Given the description of an element on the screen output the (x, y) to click on. 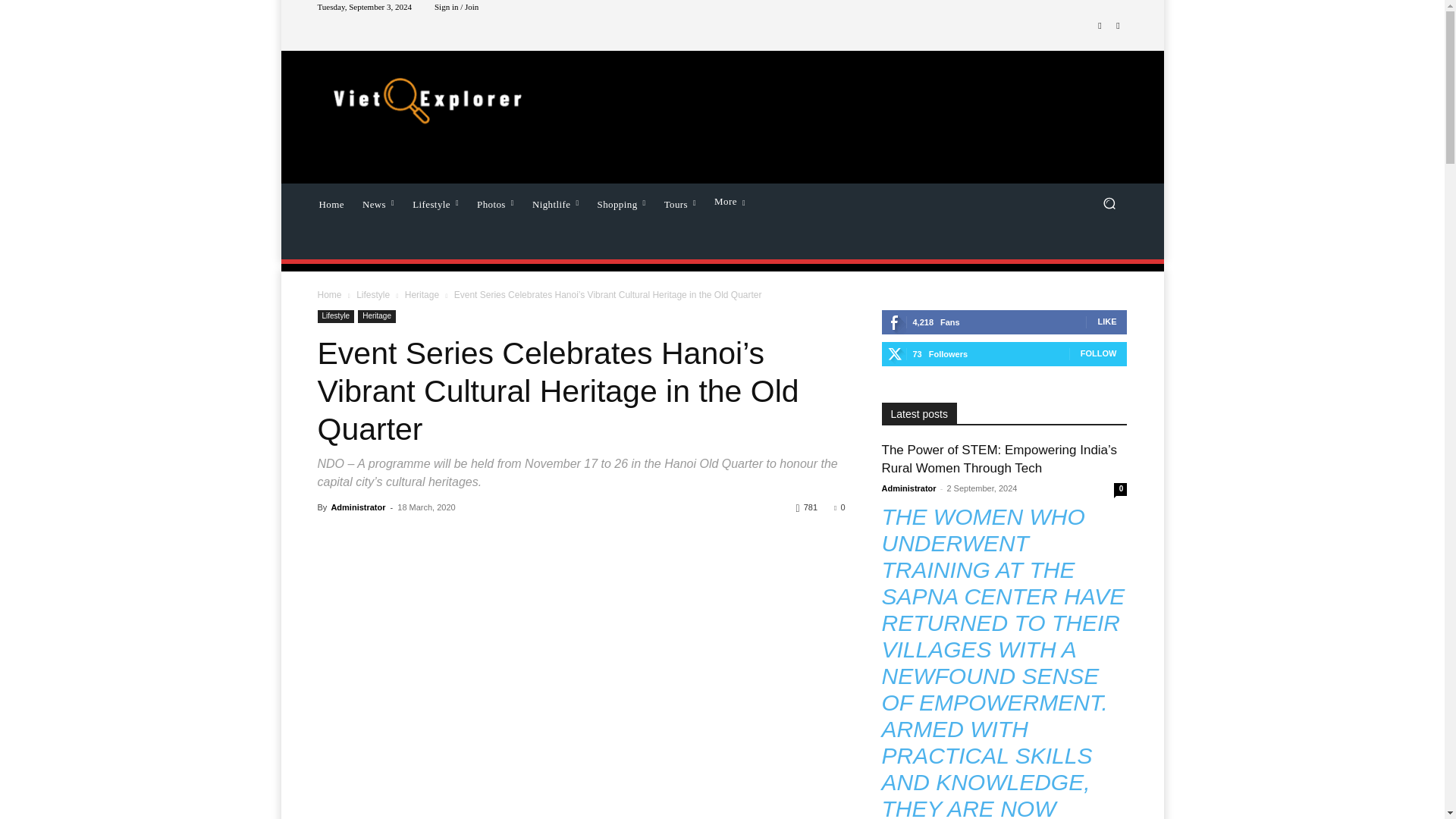
Facebook (1099, 25)
Lifestyle (435, 202)
Twitter (1117, 25)
Home (330, 202)
News (378, 202)
